Given the description of an element on the screen output the (x, y) to click on. 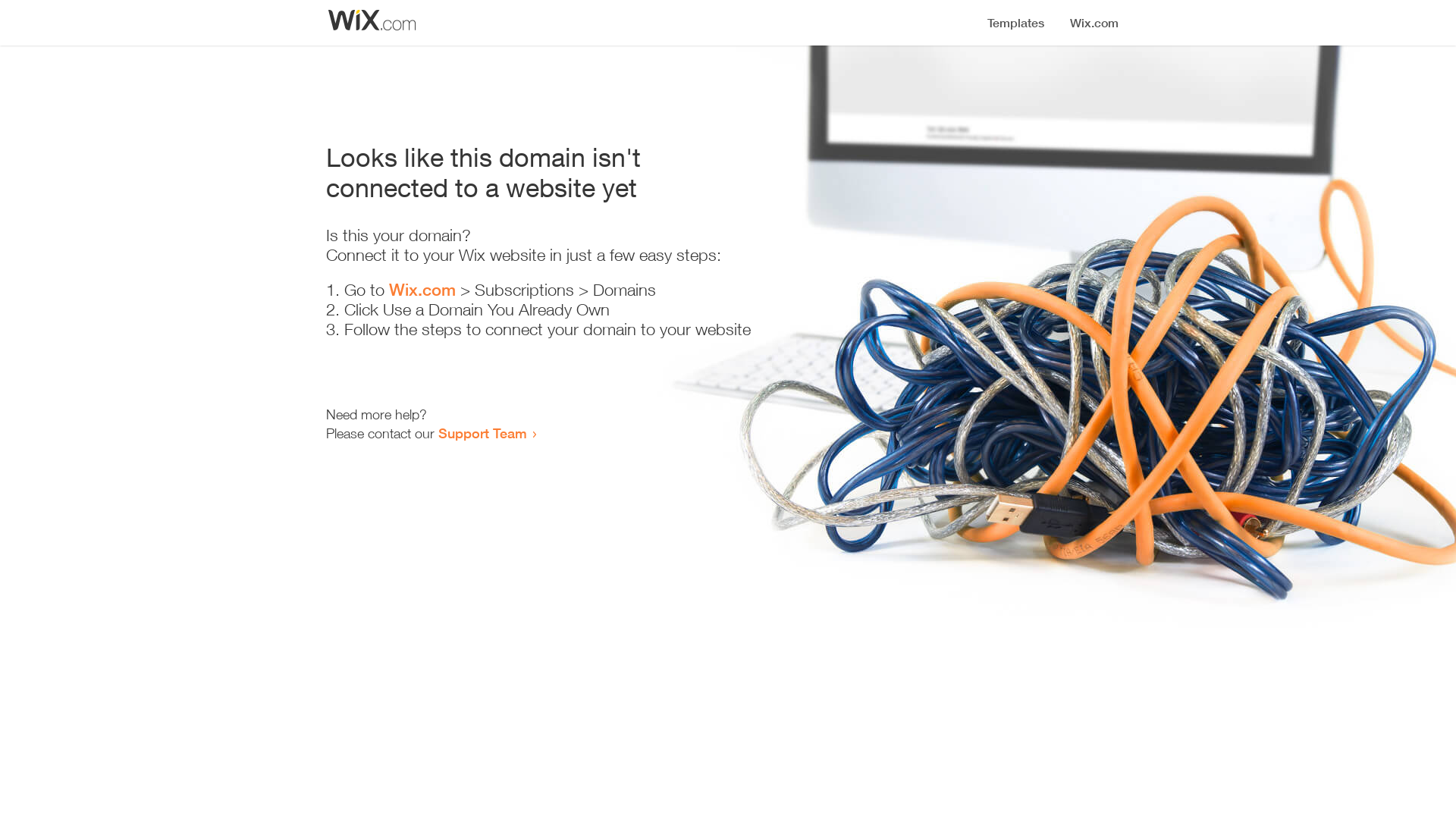
Wix.com Element type: text (422, 289)
Support Team Element type: text (482, 432)
